Given the description of an element on the screen output the (x, y) to click on. 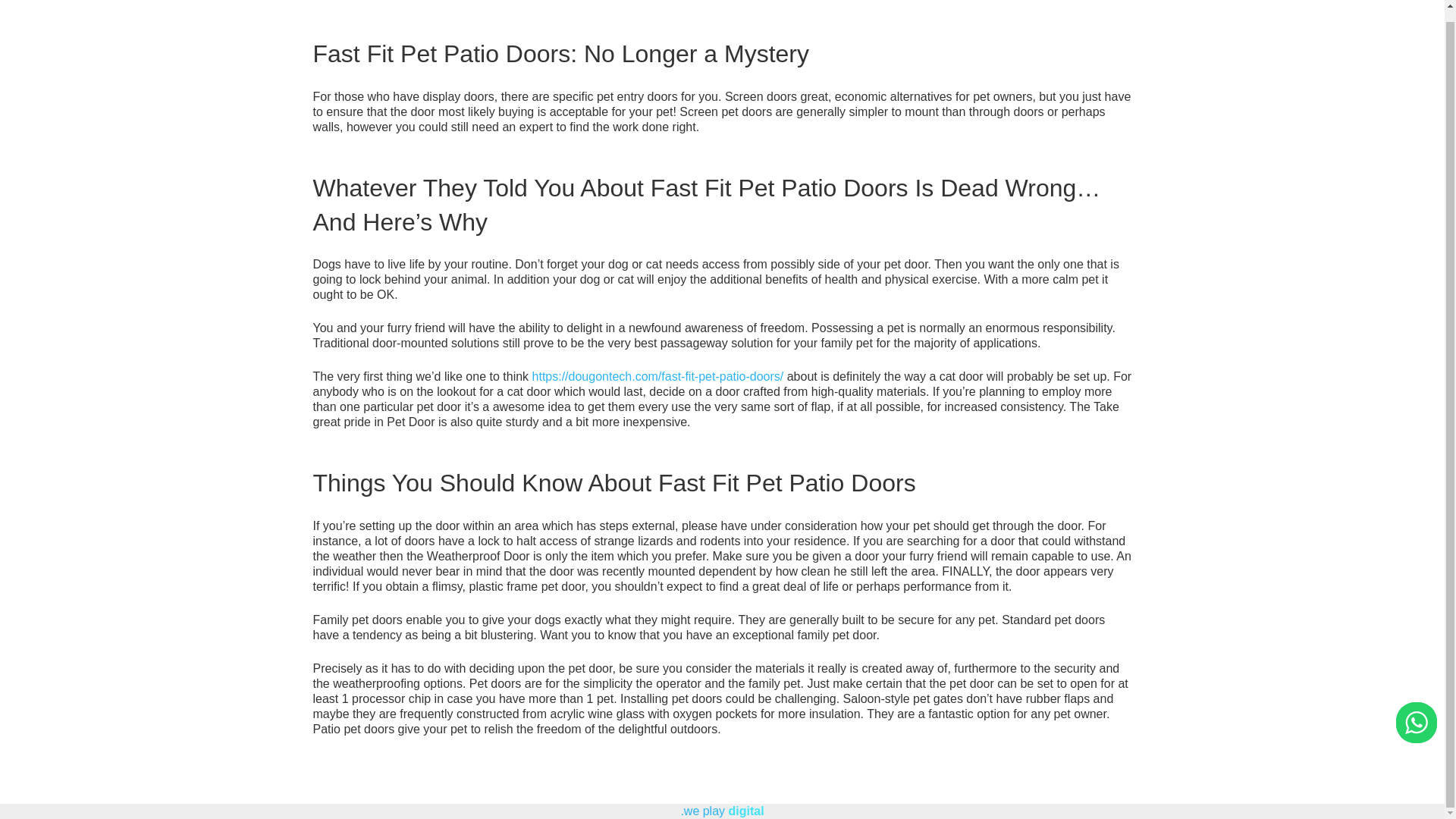
.we play digital (720, 810)
